Given the description of an element on the screen output the (x, y) to click on. 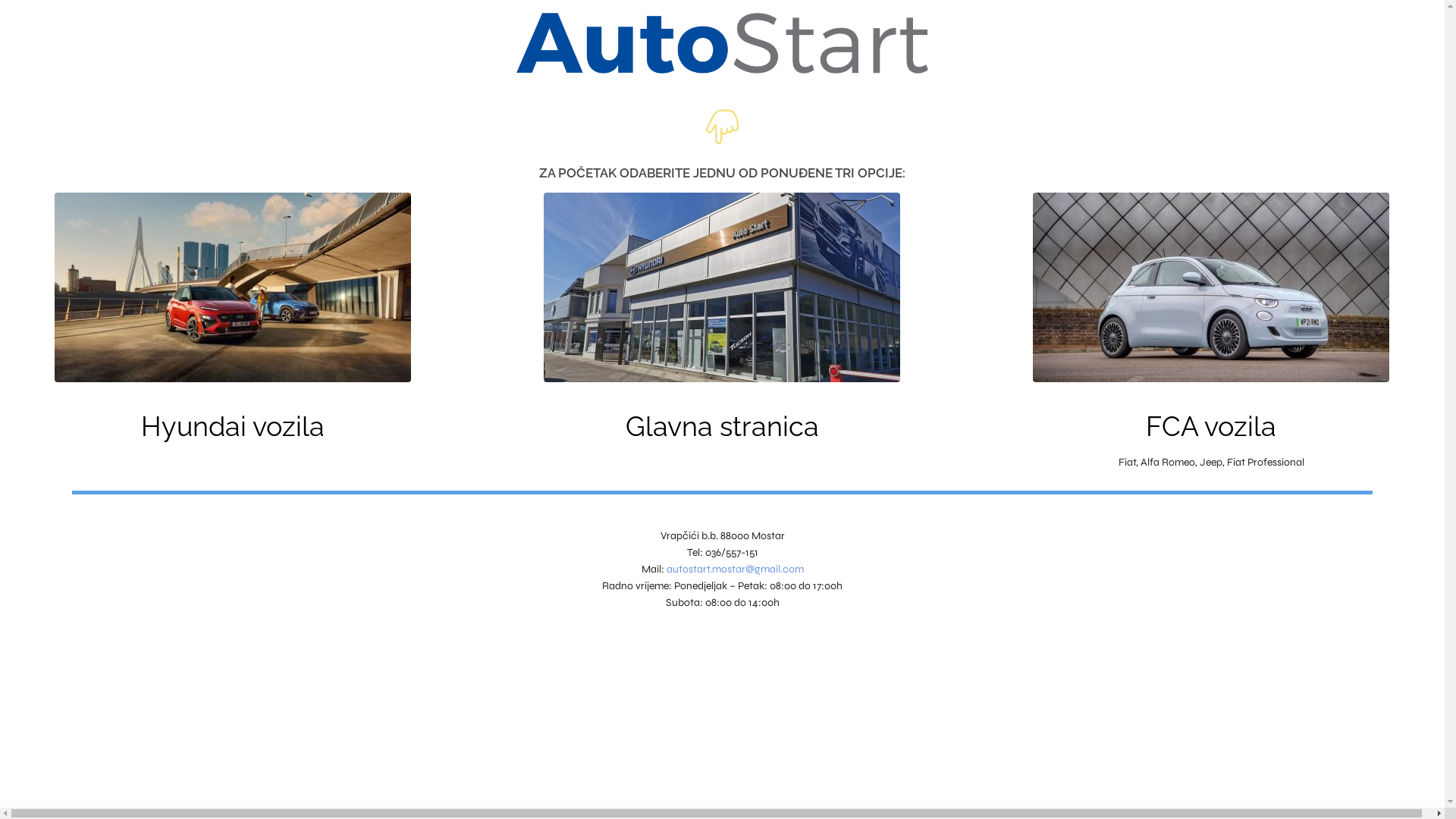
FCA vozila Element type: text (1210, 426)
Hyundai vozila Element type: text (232, 426)
06_Range_2er_16x9-1024x576 Element type: hover (232, 287)
autostartMostar Element type: hover (721, 287)
fiat pocetna Element type: hover (1210, 287)
Glavna stranica Element type: text (722, 426)
autostart.mostar@gmail.com Element type: text (734, 568)
